Given the description of an element on the screen output the (x, y) to click on. 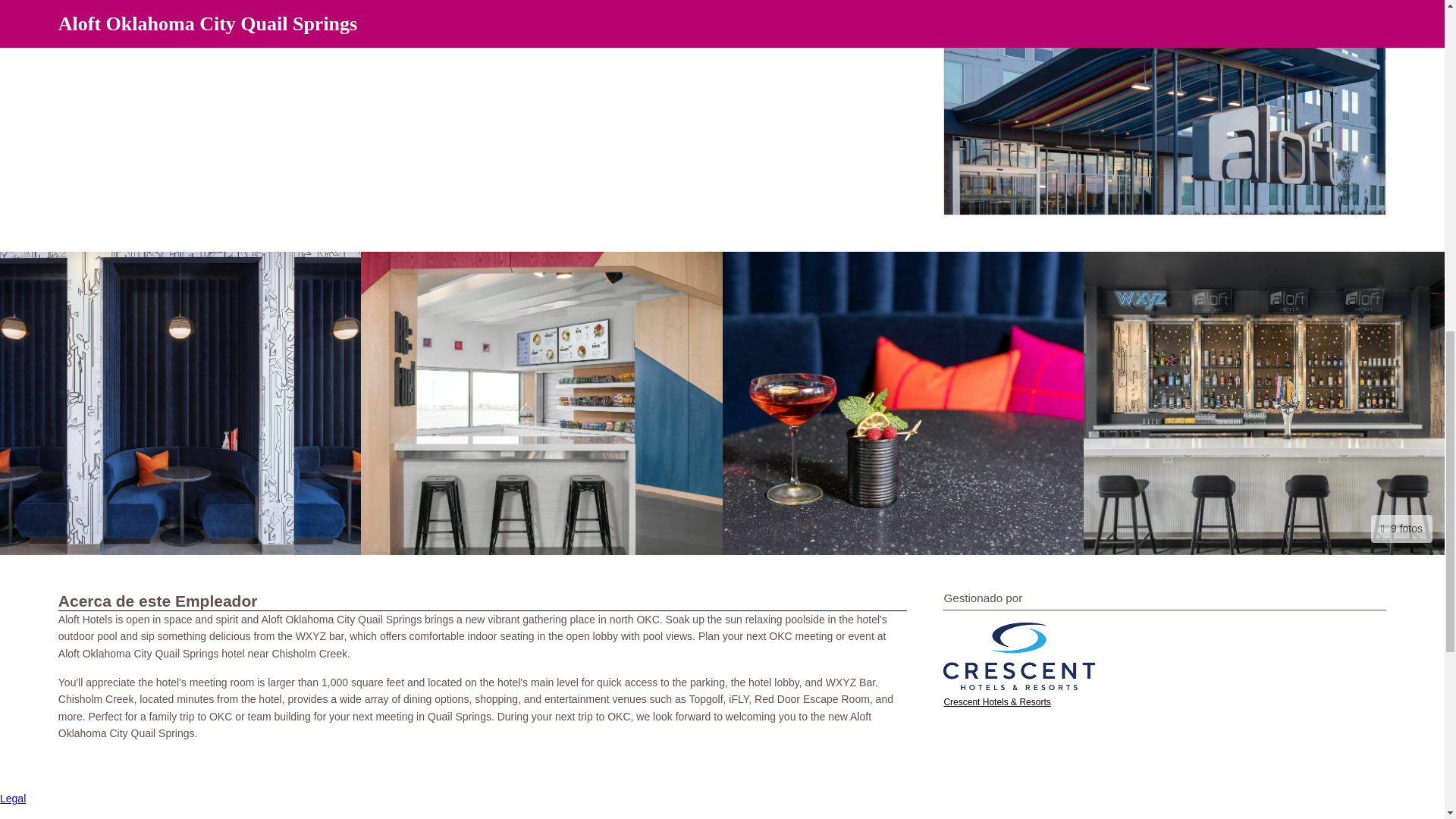
 9 fotos (1401, 528)
